Given the description of an element on the screen output the (x, y) to click on. 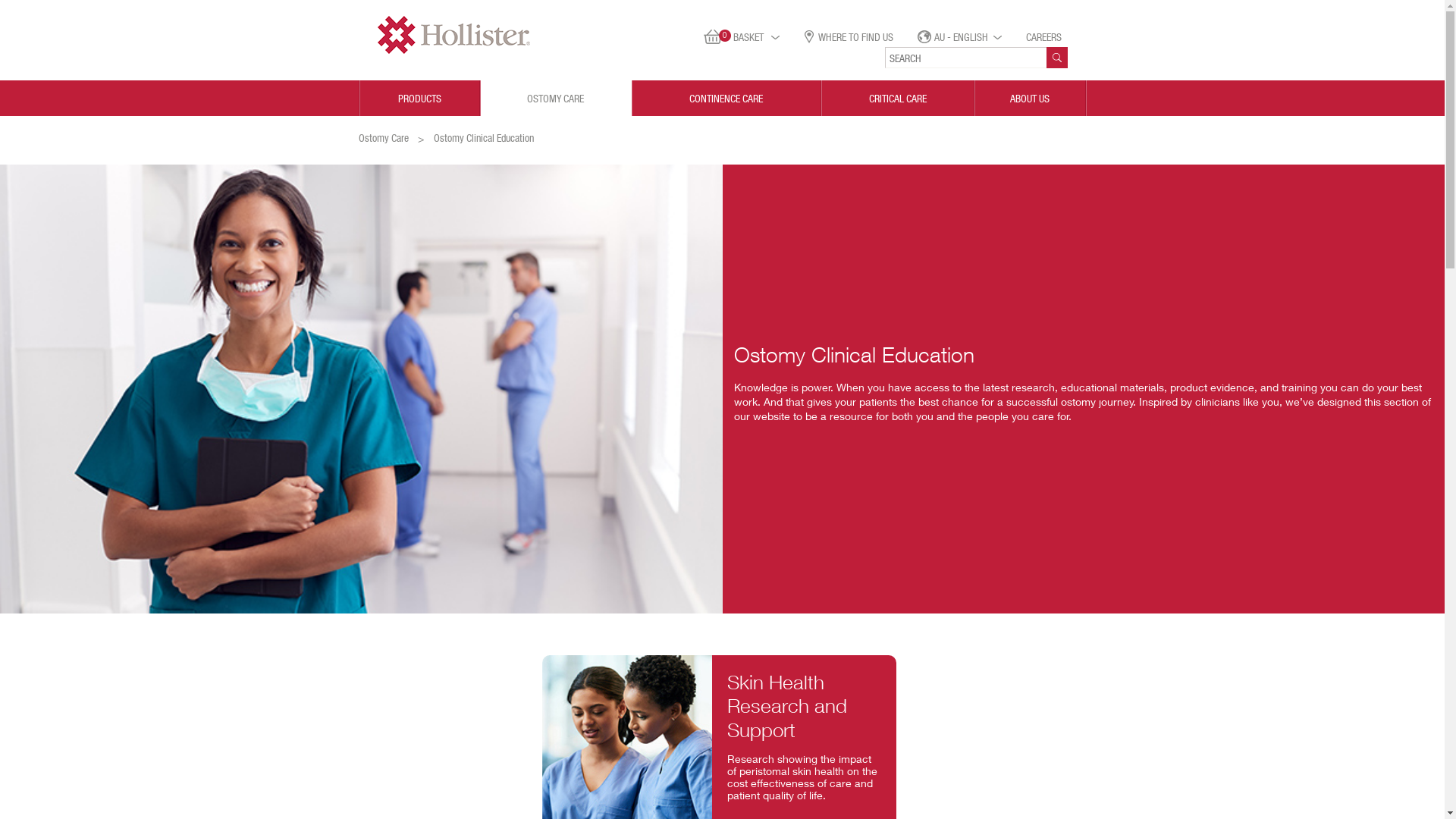
Ostomy Care Element type: text (382, 137)
CAREERS Element type: text (1043, 36)
PRODUCTS Element type: text (419, 98)
search Element type: text (1056, 57)
0
BASKET Element type: text (741, 36)
ABOUT US Element type: text (1030, 98)
CONTINENCE CARE Element type: text (726, 98)
CRITICAL CARE Element type: text (898, 98)
WHERE TO FIND US Element type: text (847, 36)
AU - ENGLISH Element type: text (959, 36)
OSTOMY CARE Element type: text (555, 98)
Ostomy Clinical Education Element type: text (483, 137)
